Given the description of an element on the screen output the (x, y) to click on. 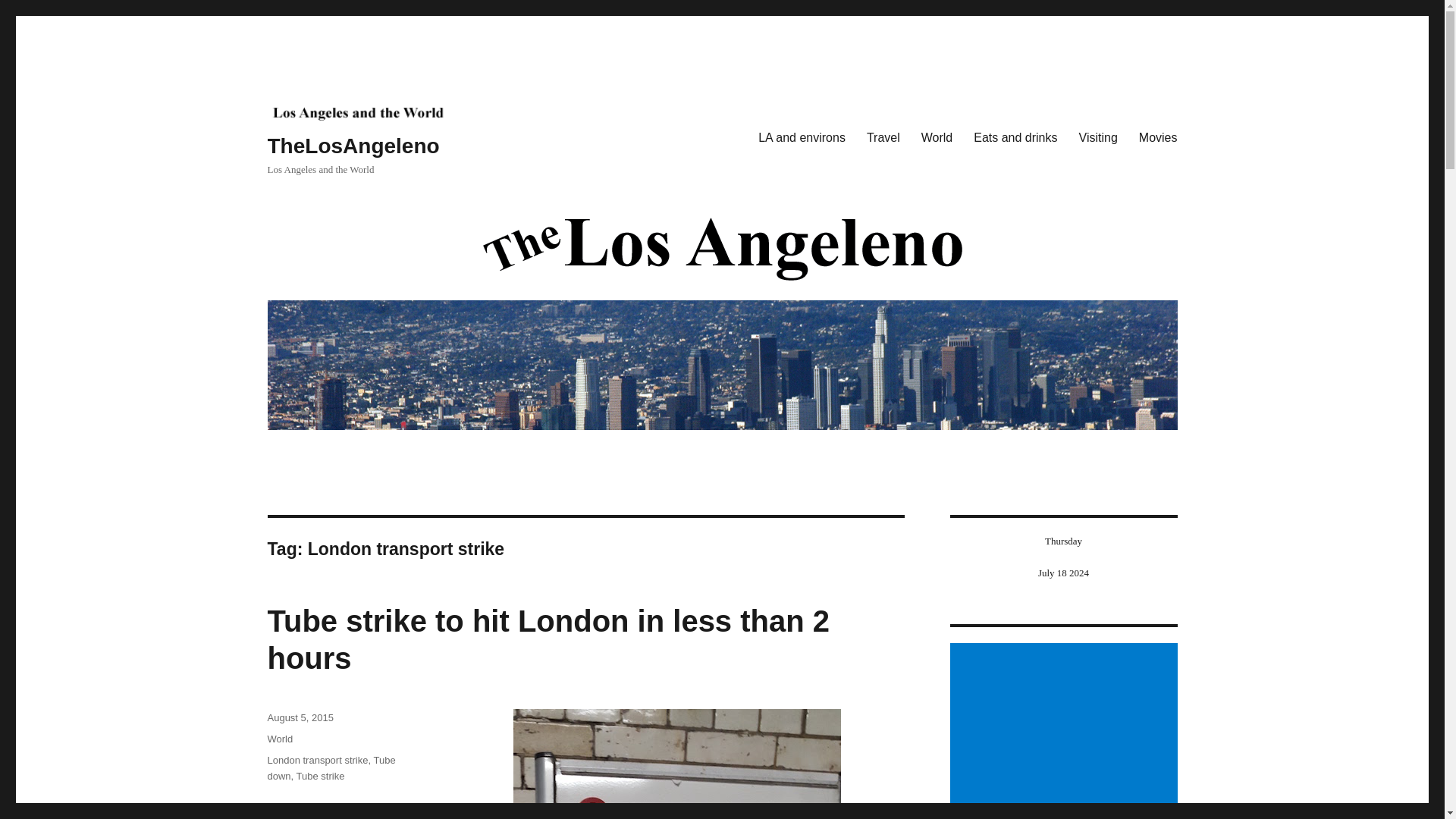
Visiting (1098, 137)
TheLosAngeleno (352, 146)
Tube down (330, 768)
World (937, 137)
August 5, 2015 (299, 717)
Movies (1158, 137)
Tube strike (321, 776)
World (279, 738)
LA and environs (802, 137)
Advertisement (1065, 731)
London transport strike (317, 759)
Eats and drinks (1014, 137)
Travel (883, 137)
Tube strike to hit London in less than 2 hours (547, 639)
